Given the description of an element on the screen output the (x, y) to click on. 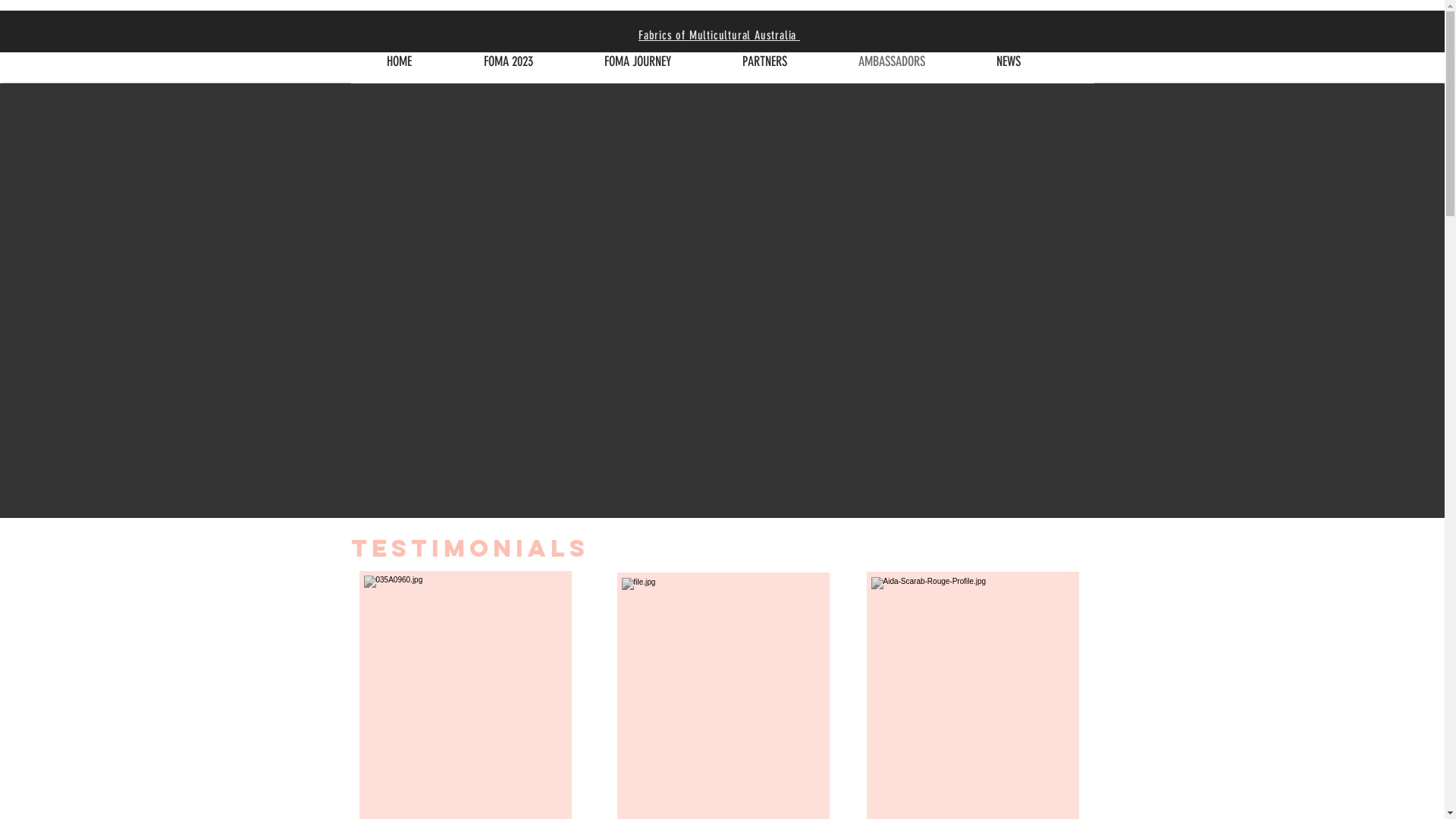
Fabrics of Multicultural Australia  Element type: text (719, 35)
NEWS Element type: text (1007, 61)
PARTNERS Element type: text (764, 61)
FOMA 2023 Element type: text (507, 61)
AMBASSADORS Element type: text (891, 61)
FOMA JOURNEY Element type: text (637, 61)
HOME Element type: text (398, 61)
